Given the description of an element on the screen output the (x, y) to click on. 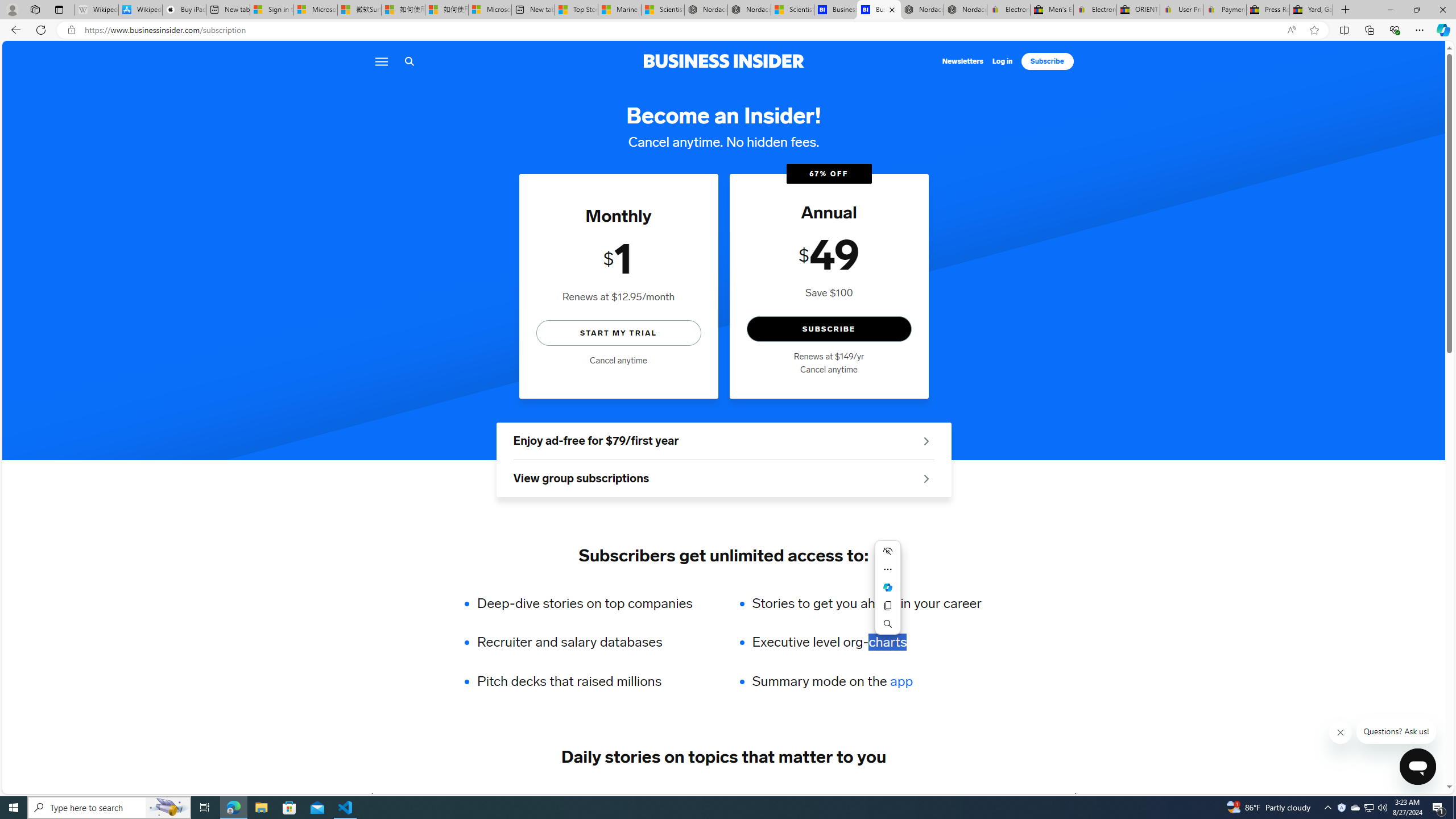
Log in (1002, 61)
ADVERTISING (471, 796)
EXECUTIVE LIFESTYLE (910, 796)
Microsoft account | Account Checkup (489, 9)
Deep-dive stories on top companies (592, 602)
Business Insider logo (723, 60)
Copy (887, 605)
Pitch decks that raised millions (592, 681)
